Given the description of an element on the screen output the (x, y) to click on. 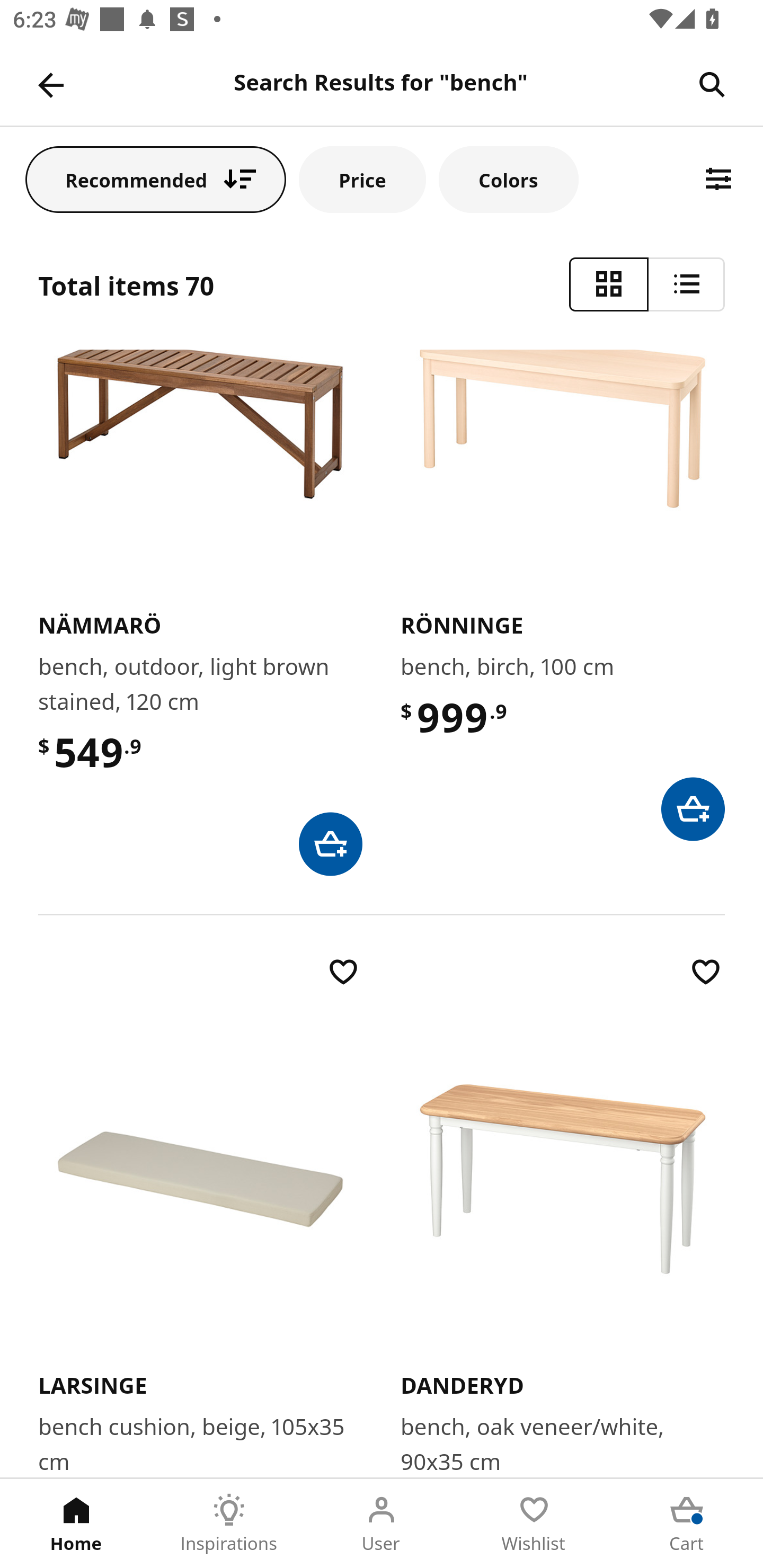
Recommended (155, 179)
Price (362, 179)
Colors (508, 179)
​R​Ö​N​N​I​N​G​E​
bench, birch, 100 cm
$
999
.9 (562, 594)
Home
Tab 1 of 5 (76, 1522)
Inspirations
Tab 2 of 5 (228, 1522)
User
Tab 3 of 5 (381, 1522)
Wishlist
Tab 4 of 5 (533, 1522)
Cart
Tab 5 of 5 (686, 1522)
